Given the description of an element on the screen output the (x, y) to click on. 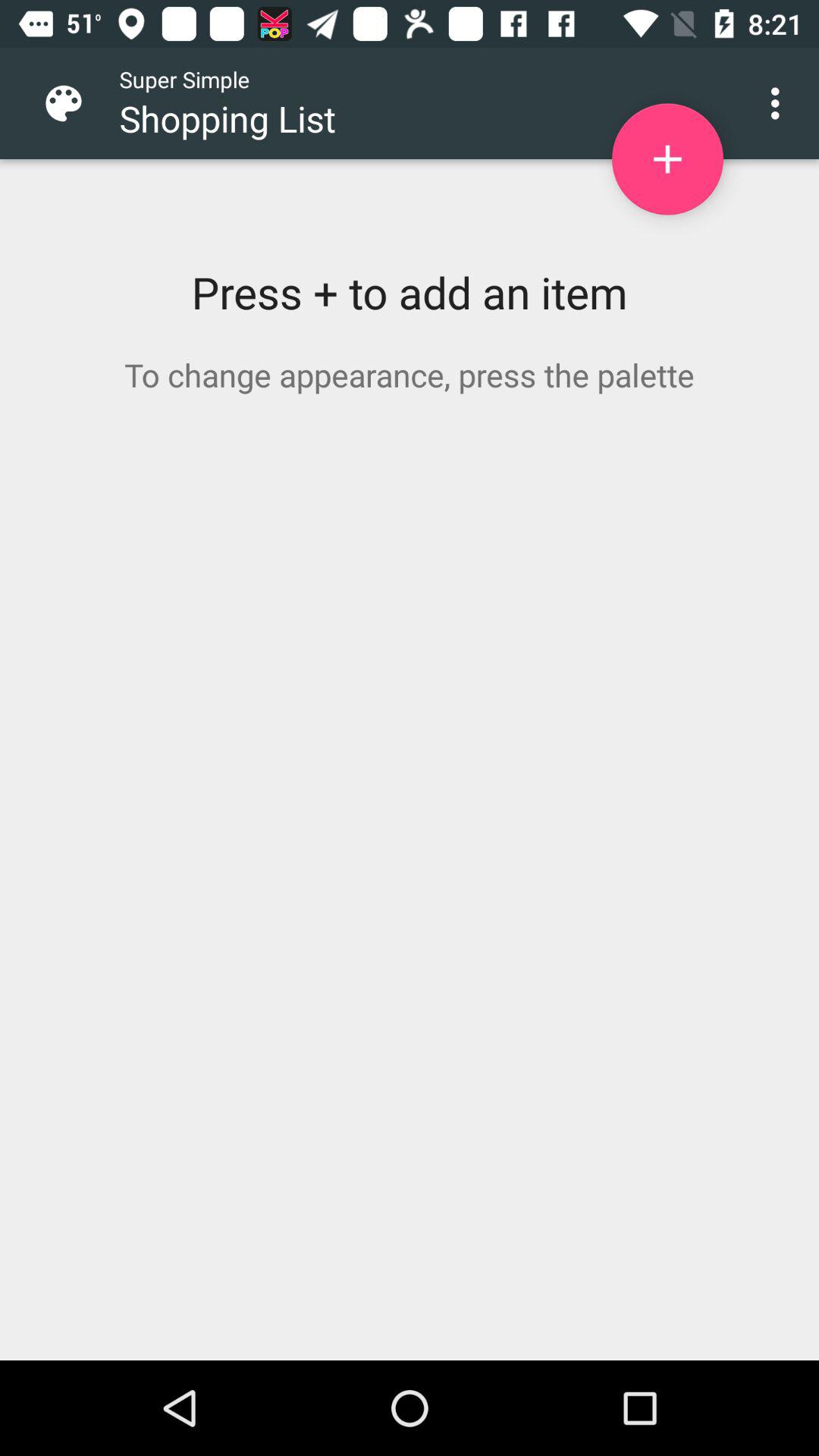
press the icon to the right of the shopping list (667, 158)
